Given the description of an element on the screen output the (x, y) to click on. 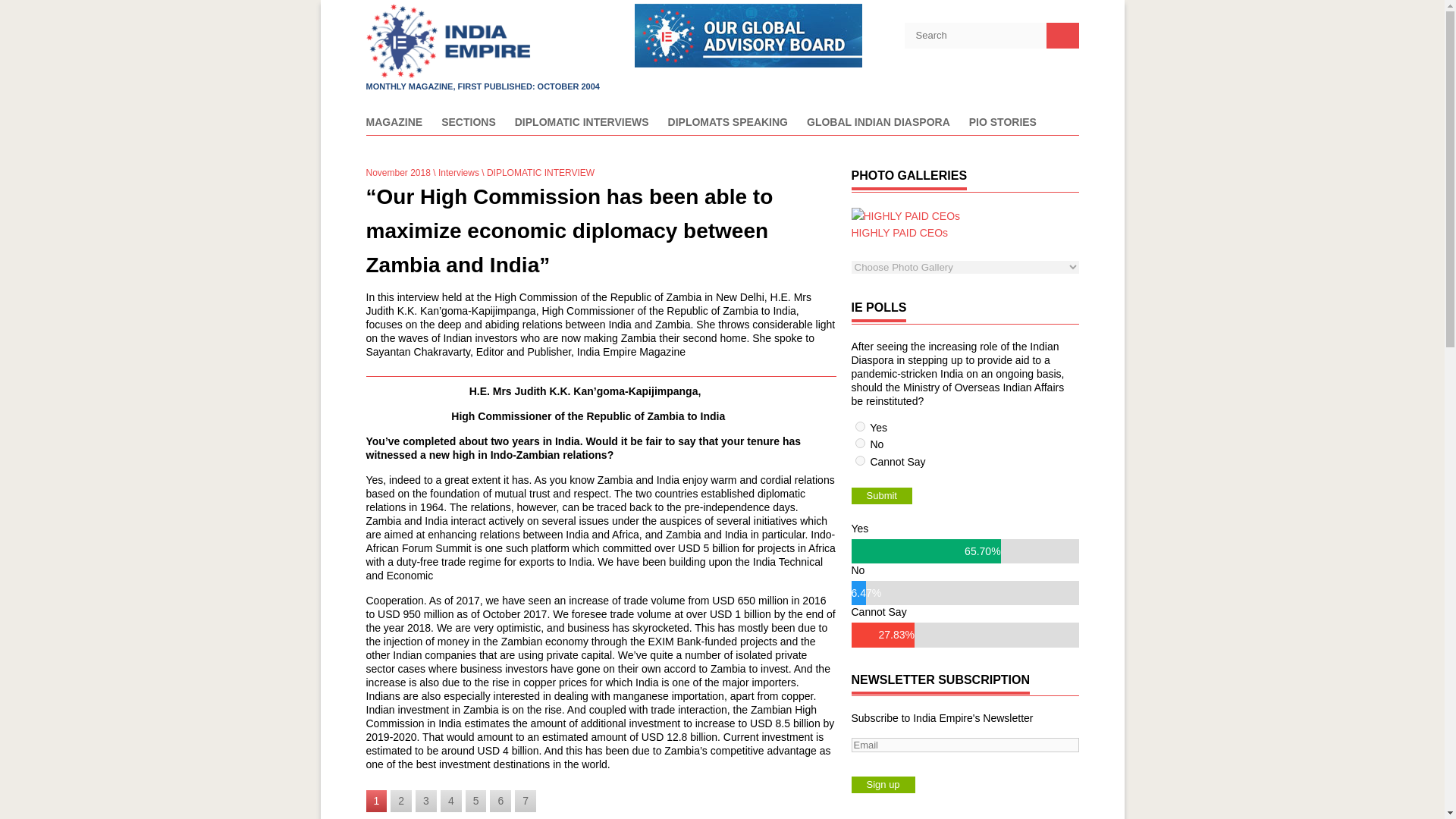
DIPLOMATS SPEAKING (727, 126)
1 (860, 426)
Submit (880, 495)
PIO STORIES (1002, 126)
4 (451, 801)
DIPLOMATIC INTERVIEWS (582, 126)
3 (425, 801)
Interviews (458, 172)
6 (500, 801)
2 (860, 442)
